Given the description of an element on the screen output the (x, y) to click on. 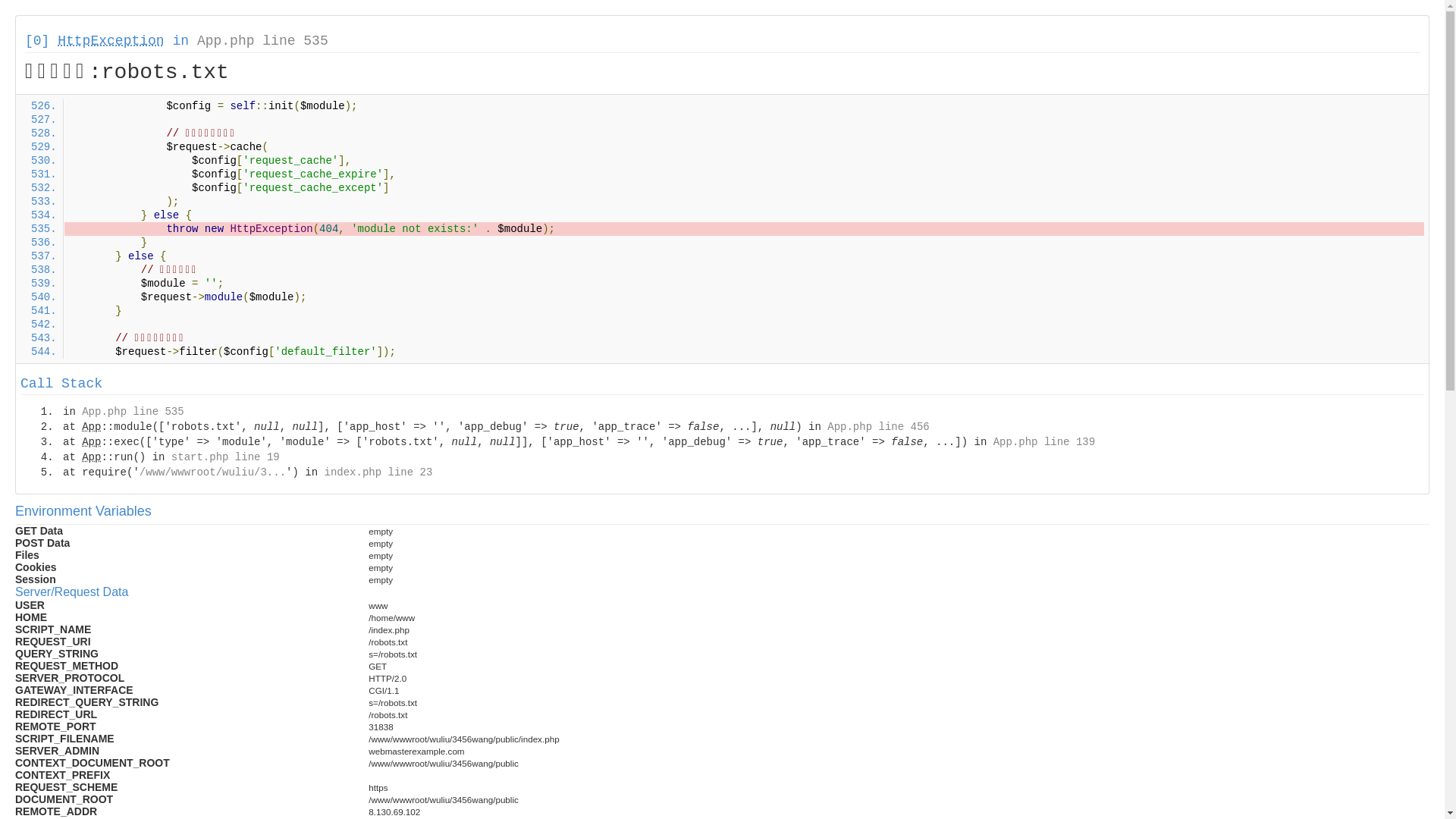
App.php line 535 Element type: text (262, 40)
App.php line 456 Element type: text (877, 426)
App.php line 535 Element type: text (132, 411)
start.php line 19 Element type: text (225, 457)
/www/wwwroot/wuliu/3... Element type: text (212, 472)
index.php line 23 Element type: text (377, 472)
App.php line 139 Element type: text (1044, 442)
